Given the description of an element on the screen output the (x, y) to click on. 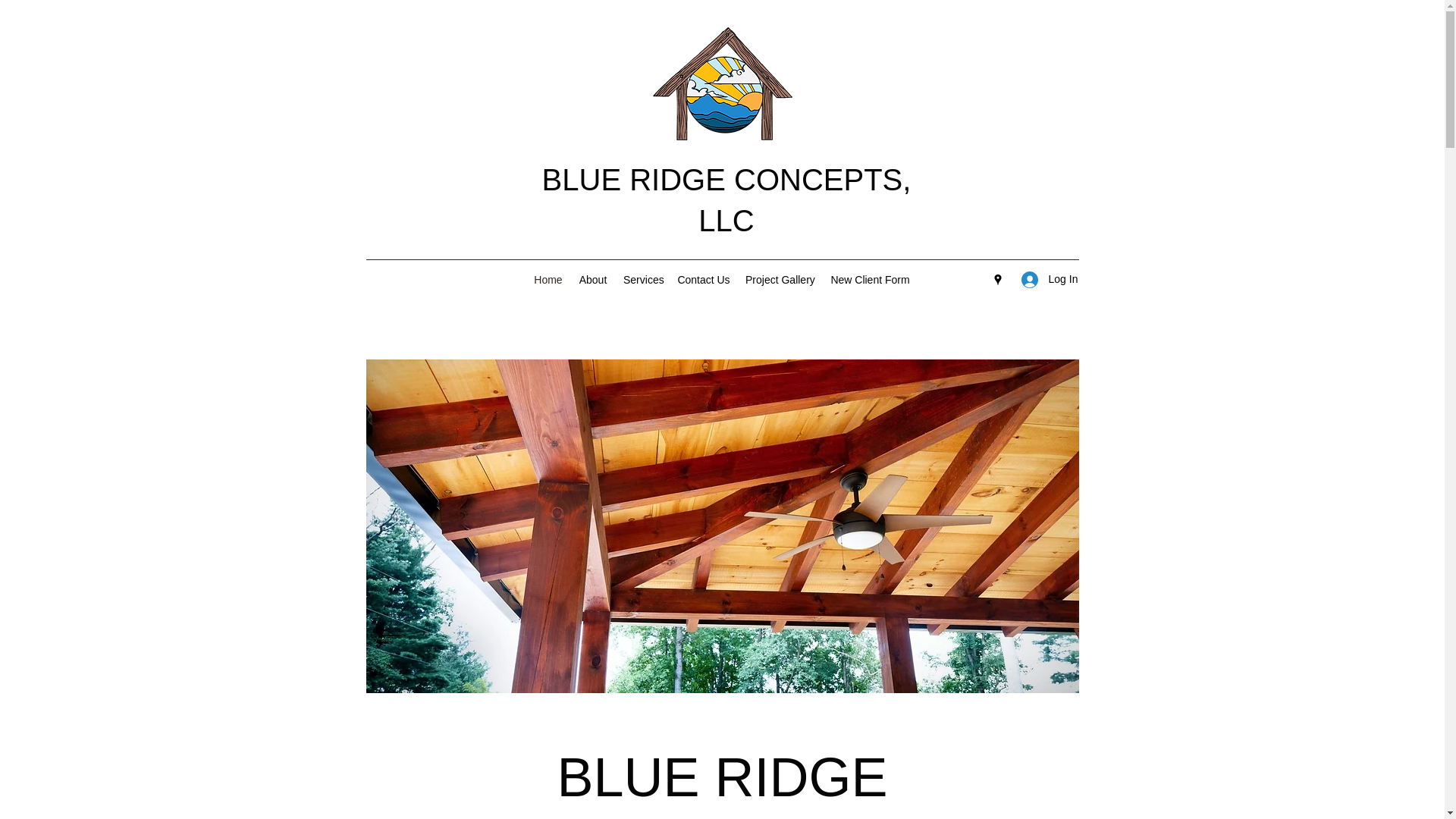
Home (547, 279)
About (592, 279)
Services (642, 279)
Project Gallery (780, 279)
New Client Form (870, 279)
Log In (1044, 279)
Contact Us (703, 279)
BLUE RIDGE CONCEPTS, LLC (726, 199)
